Given the description of an element on the screen output the (x, y) to click on. 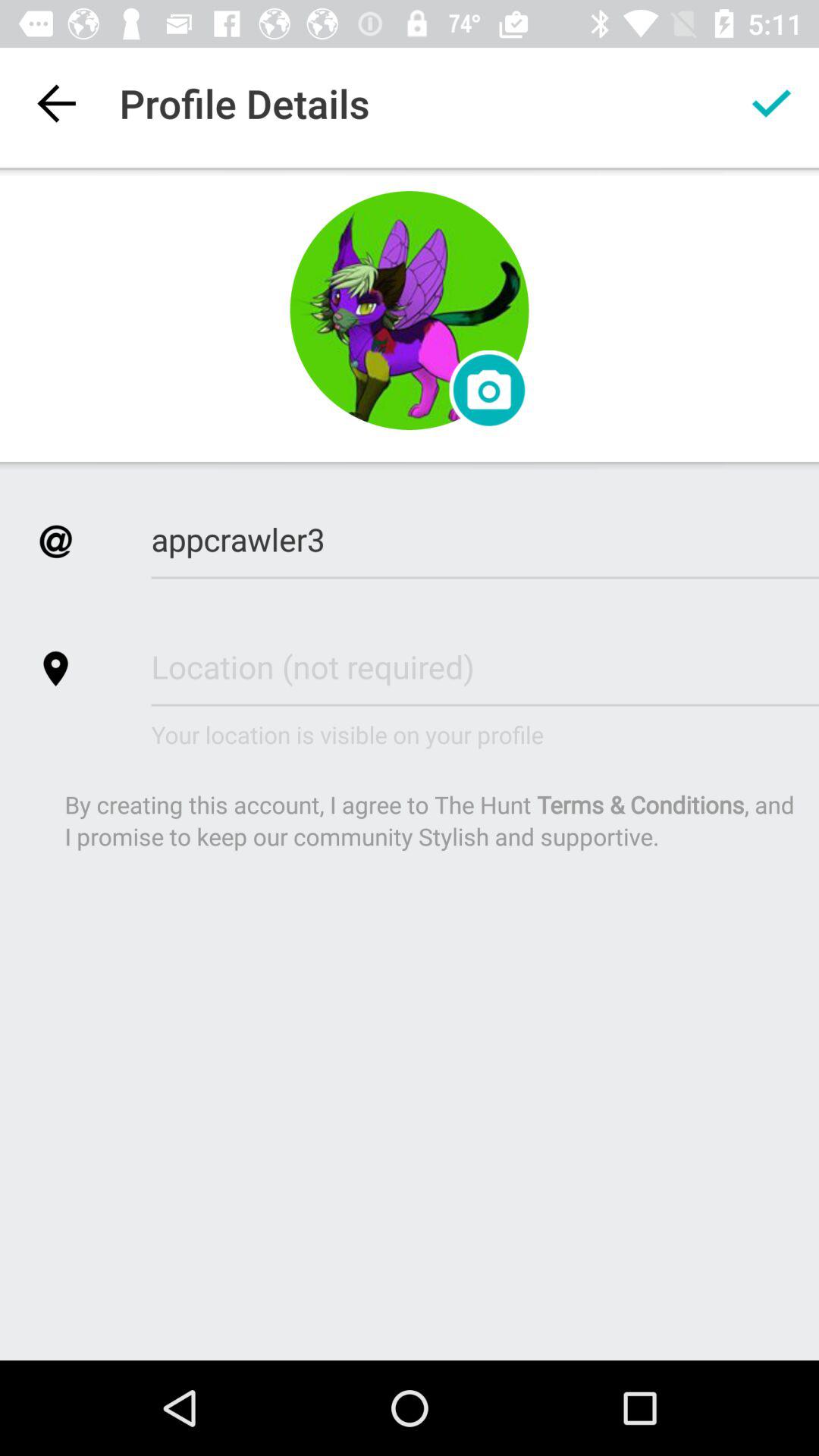
tap item to the left of profile details item (55, 103)
